Given the description of an element on the screen output the (x, y) to click on. 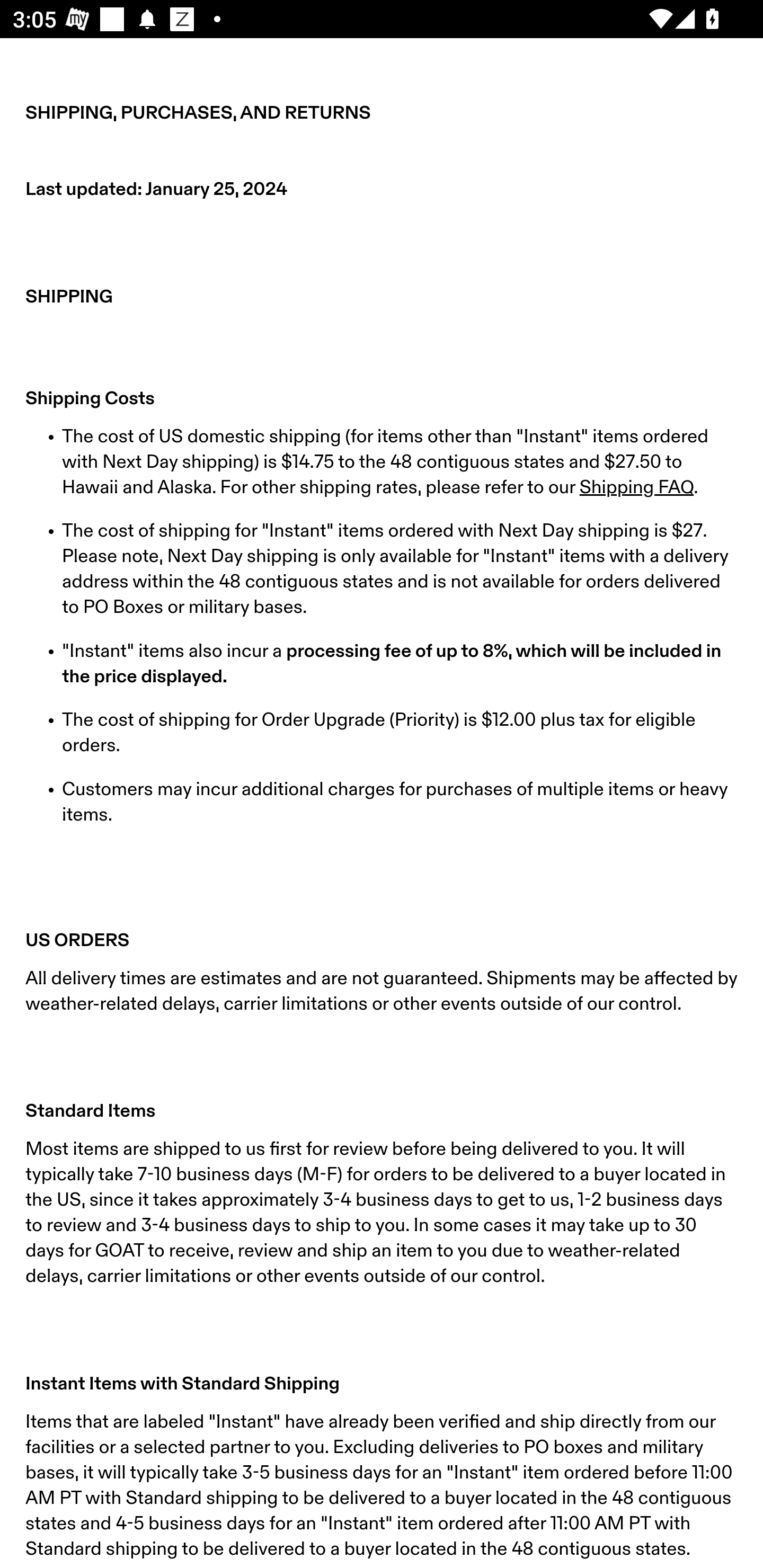
Shipping FAQ (636, 487)
